Given the description of an element on the screen output the (x, y) to click on. 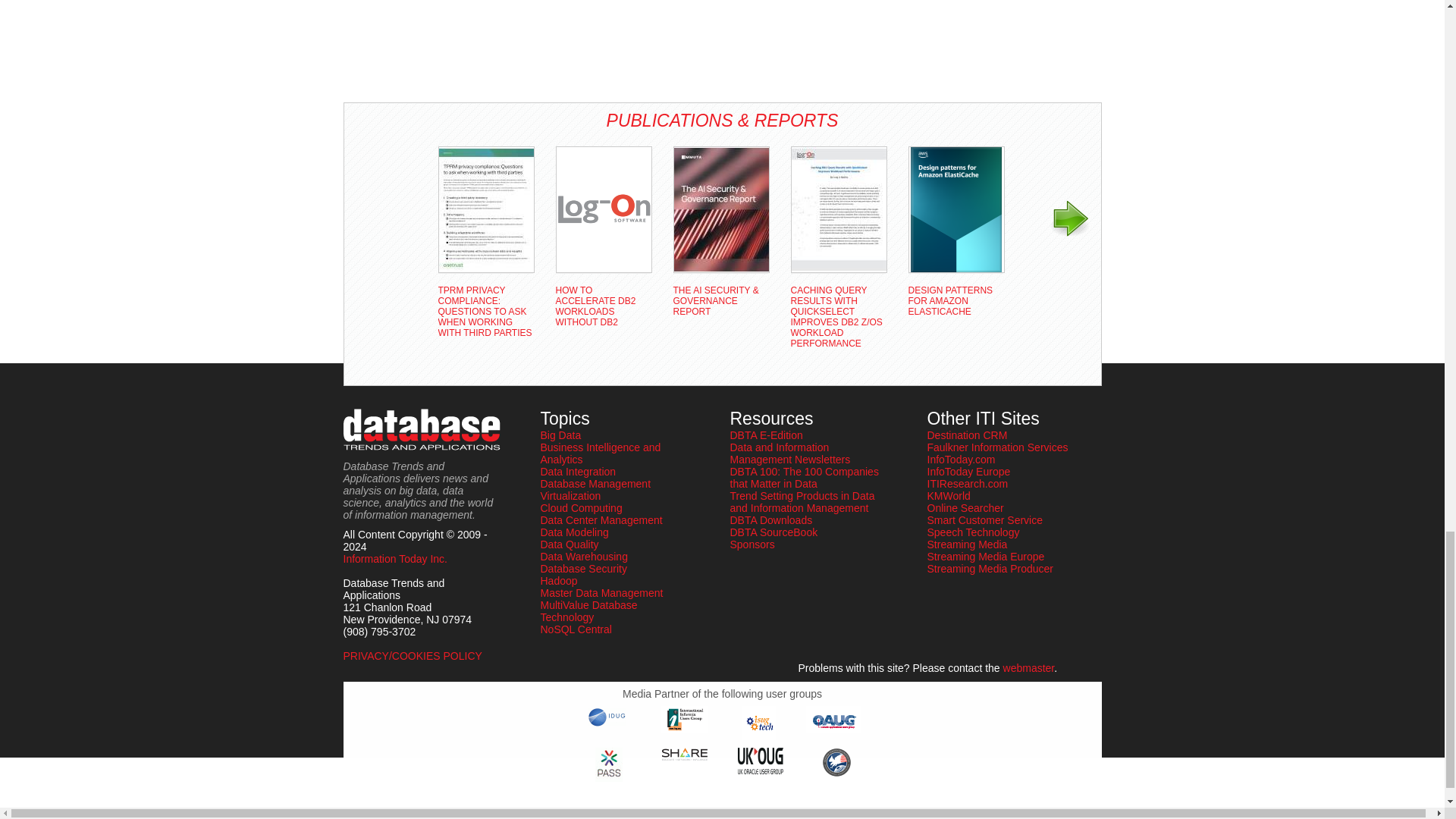
3rd party ad content (668, 19)
3rd party ad content (403, 46)
